Given the description of an element on the screen output the (x, y) to click on. 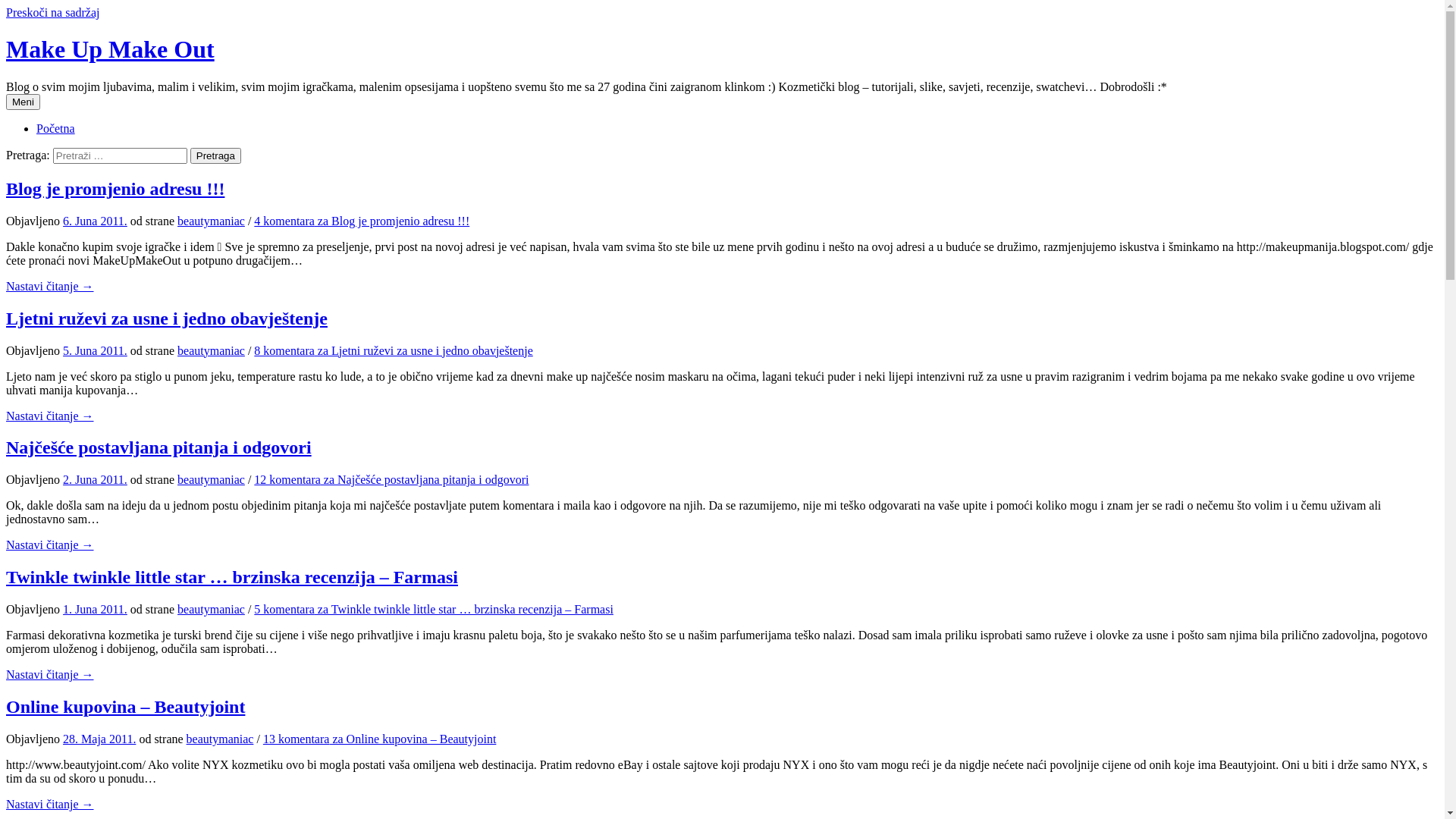
beautymaniac Element type: text (210, 479)
beautymaniac Element type: text (220, 738)
28. Maja 2011. Element type: text (98, 738)
4 komentara za Blog je promjenio adresu !!! Element type: text (361, 220)
Meni Element type: text (23, 101)
6. Juna 2011. Element type: text (94, 220)
2. Juna 2011. Element type: text (94, 479)
beautymaniac Element type: text (210, 350)
Pretraga Element type: text (215, 155)
Make Up Make Out Element type: text (110, 48)
beautymaniac Element type: text (210, 220)
5. Juna 2011. Element type: text (94, 350)
Blog je promjenio adresu !!! Element type: text (115, 188)
1. Juna 2011. Element type: text (94, 608)
beautymaniac Element type: text (210, 608)
